Given the description of an element on the screen output the (x, y) to click on. 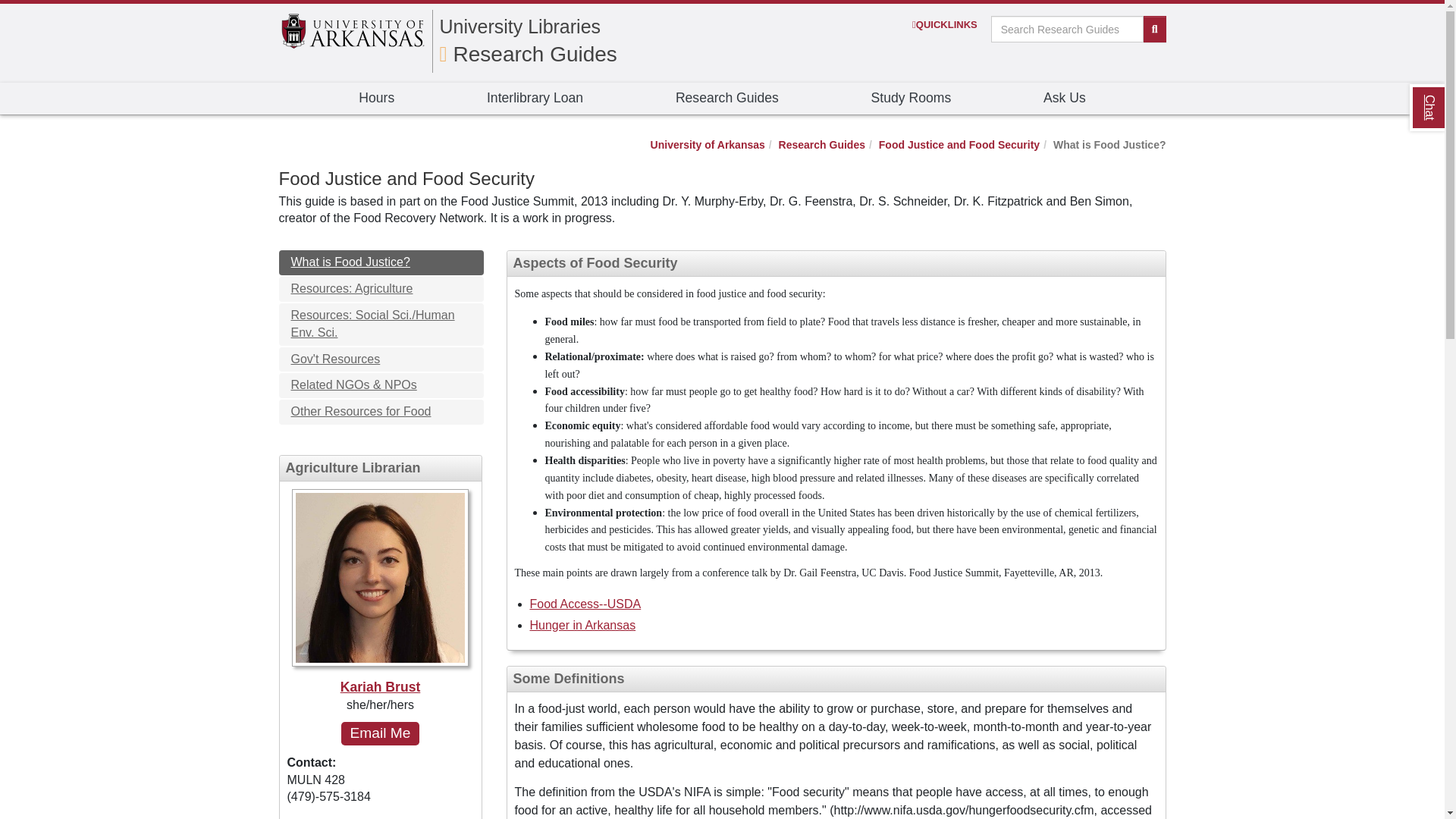
What is Food Justice? (381, 262)
University Libraries (520, 25)
University Libraries (520, 25)
Email Me (379, 733)
Research Guides (726, 98)
QUICKLINKS (944, 24)
Kariah Brust (379, 592)
Gov't Resources (381, 359)
Ask Us (1063, 98)
Interlibrary Loan (534, 98)
Resources: Agriculture (381, 289)
Research Guides (528, 54)
University of Arkansas (707, 144)
Study Rooms (911, 98)
Research Guides (821, 144)
